Given the description of an element on the screen output the (x, y) to click on. 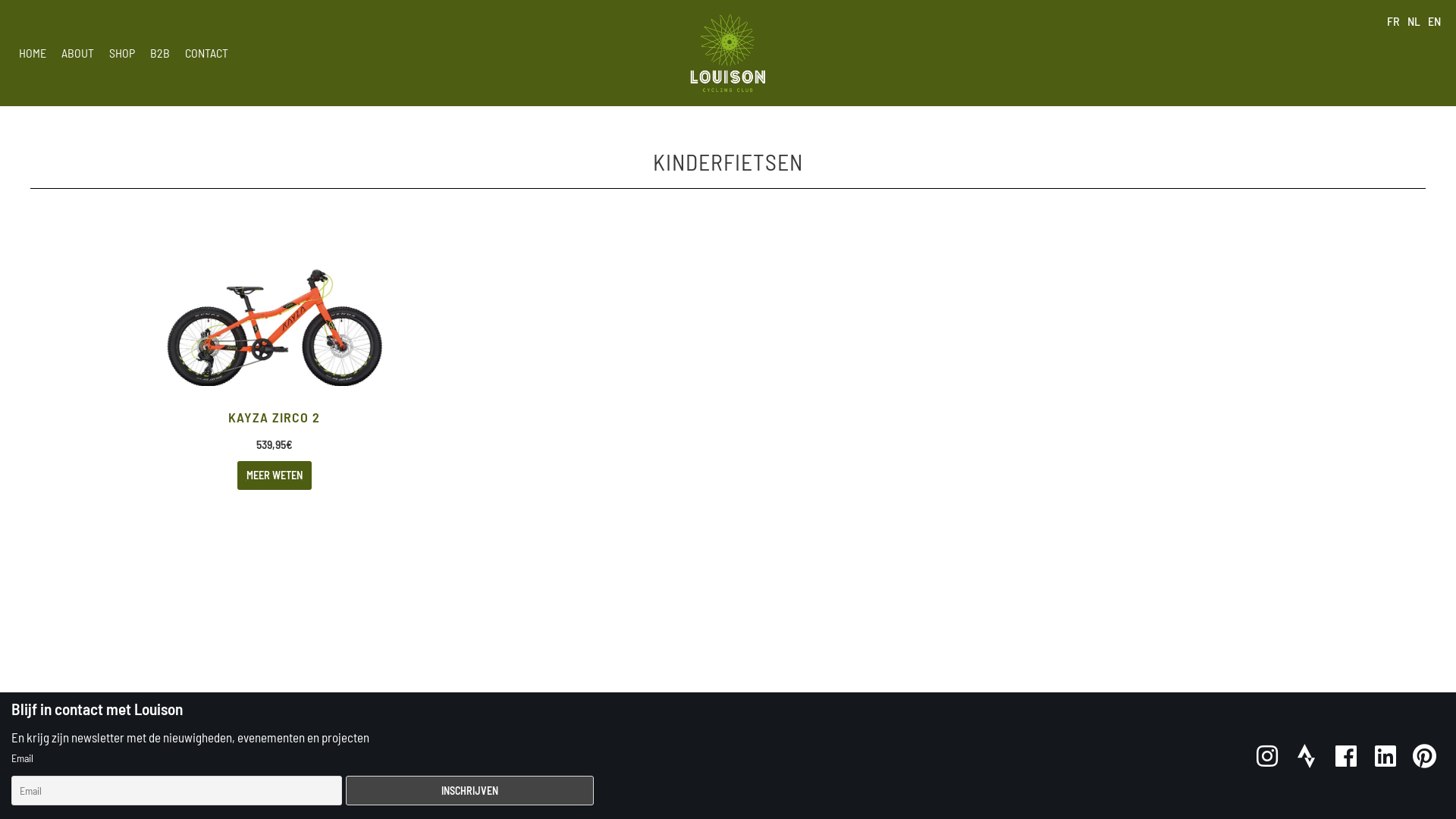
Strava Element type: hover (1305, 755)
Facebook Element type: hover (1345, 755)
EN Element type: text (1433, 21)
Instagram Element type: hover (1266, 755)
LinkedIn Element type: hover (1385, 755)
Strava Element type: hover (1306, 755)
FR Element type: text (1392, 21)
ABOUT Element type: text (77, 52)
HOME Element type: text (32, 52)
NL Element type: text (1413, 21)
Pinterest Element type: hover (1424, 755)
Spring naar de inhoud Element type: text (15, 31)
LinkedIn Element type: hover (1385, 755)
Facebook Element type: hover (1345, 755)
Instagram Element type: hover (1266, 755)
CONTACT Element type: text (206, 52)
Inschrijven Element type: text (469, 790)
Louison Element type: hover (727, 52)
Pinterest Element type: hover (1424, 755)
MEER WETEN Element type: text (274, 475)
B2B Element type: text (159, 52)
SHOP Element type: text (121, 52)
